Given the description of an element on the screen output the (x, y) to click on. 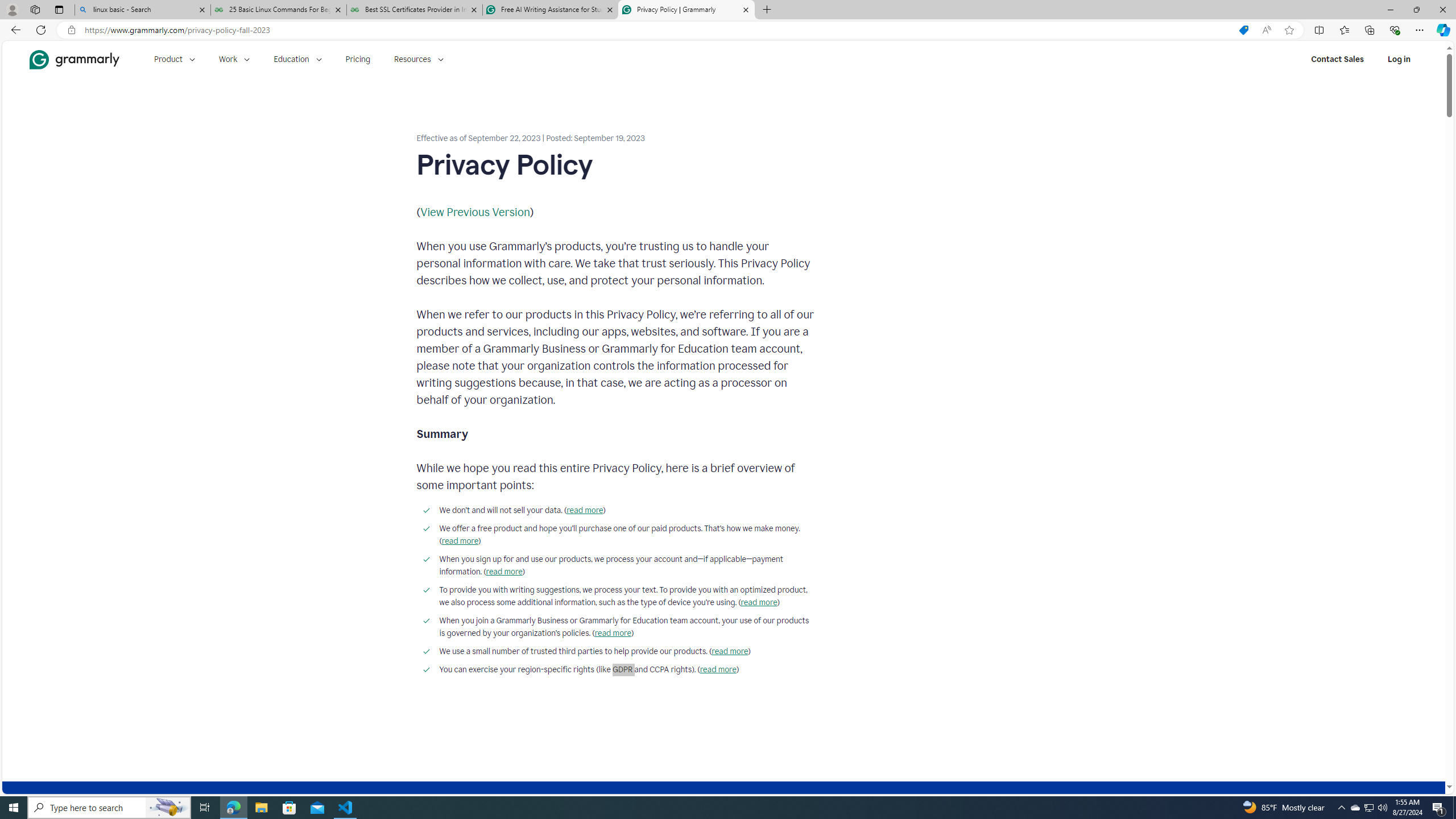
linux basic - Search (142, 9)
Pricing (357, 58)
Education (297, 58)
Best SSL Certificates Provider in India - GeeksforGeeks (414, 9)
Resources (419, 58)
Work (234, 58)
Pricing (357, 58)
